Given the description of an element on the screen output the (x, y) to click on. 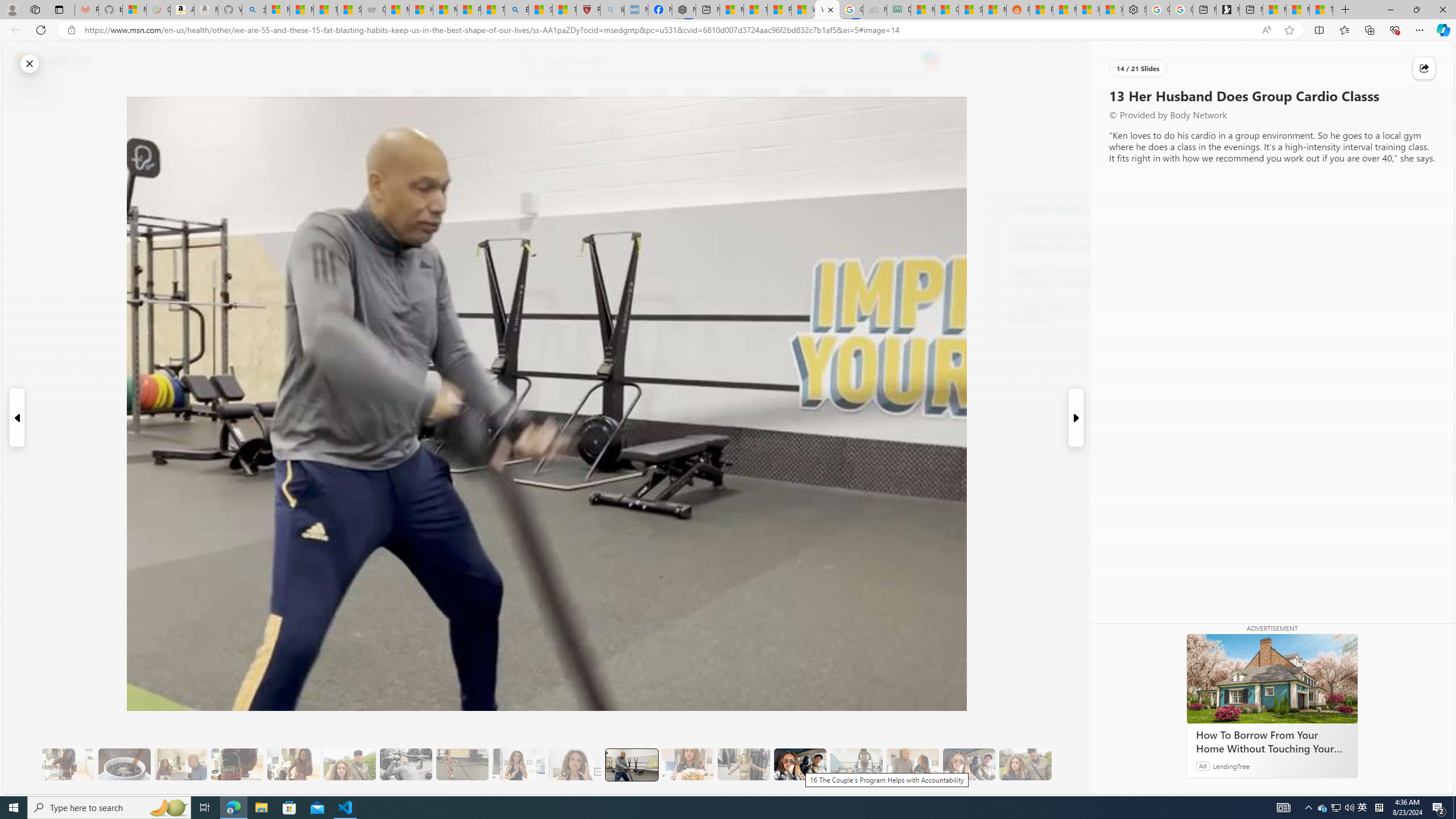
20 Overall, It Will Improve Your Health (1024, 764)
How To Borrow From Your Home Without Touching Your Mortgage (1271, 741)
13 Her Husband Does Group Cardio Classs (631, 764)
8 Be Mindful of Coffee (124, 764)
3 They Drink Lemon Tea (68, 764)
Class: at-item immersive (1423, 68)
Following (373, 92)
Microsoft-Report a Concern to Bing (134, 9)
LendingTree (1231, 765)
